Given the description of an element on the screen output the (x, y) to click on. 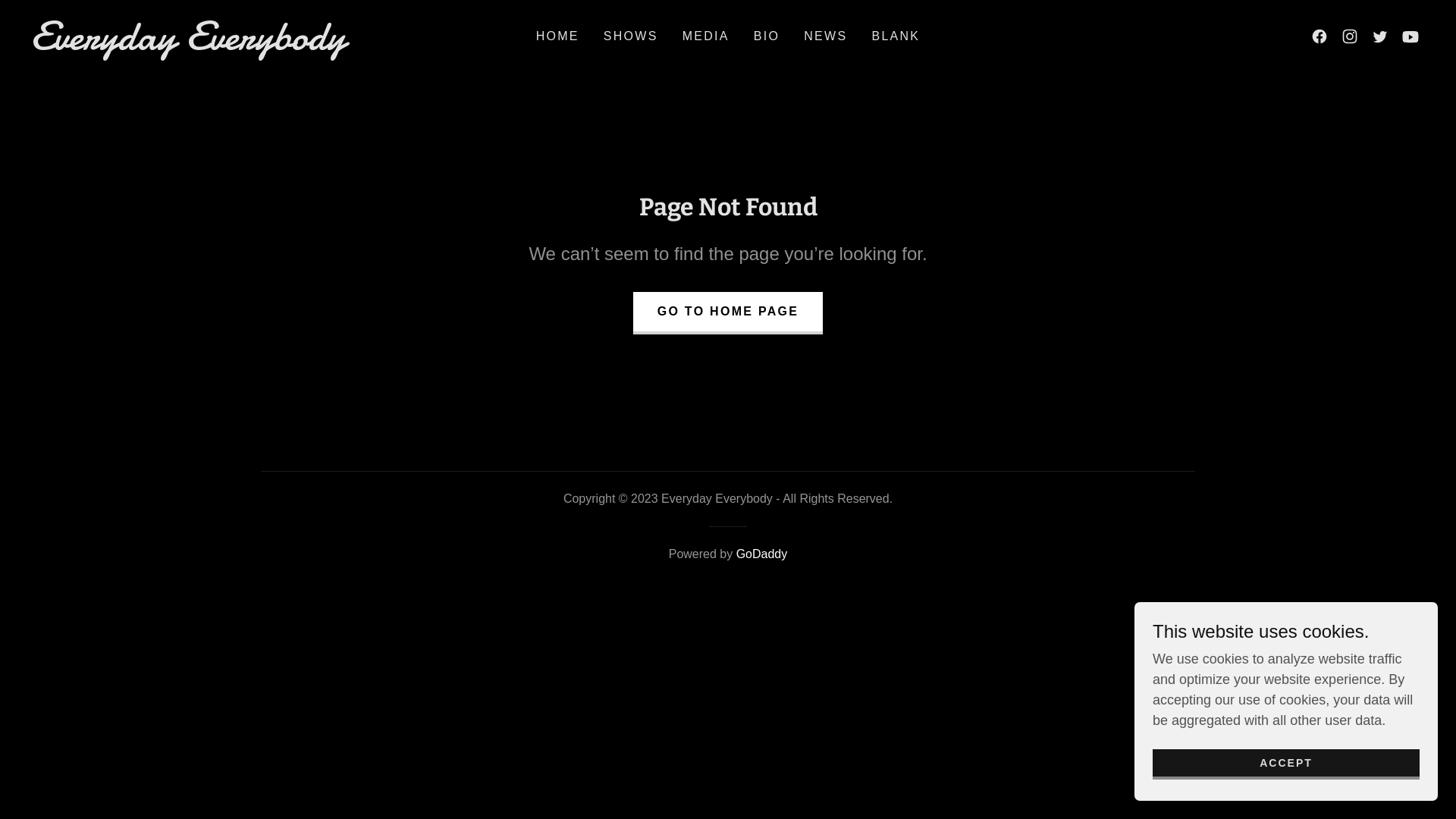
NEWS Element type: text (825, 36)
MEDIA Element type: text (705, 36)
HOME Element type: text (557, 36)
GoDaddy Element type: text (761, 553)
Everyday Everybody Element type: text (227, 44)
GO TO HOME PAGE Element type: text (728, 312)
SHOWS Element type: text (630, 36)
ACCEPT Element type: text (1285, 764)
BLANK Element type: text (895, 36)
BIO Element type: text (766, 36)
